Given the description of an element on the screen output the (x, y) to click on. 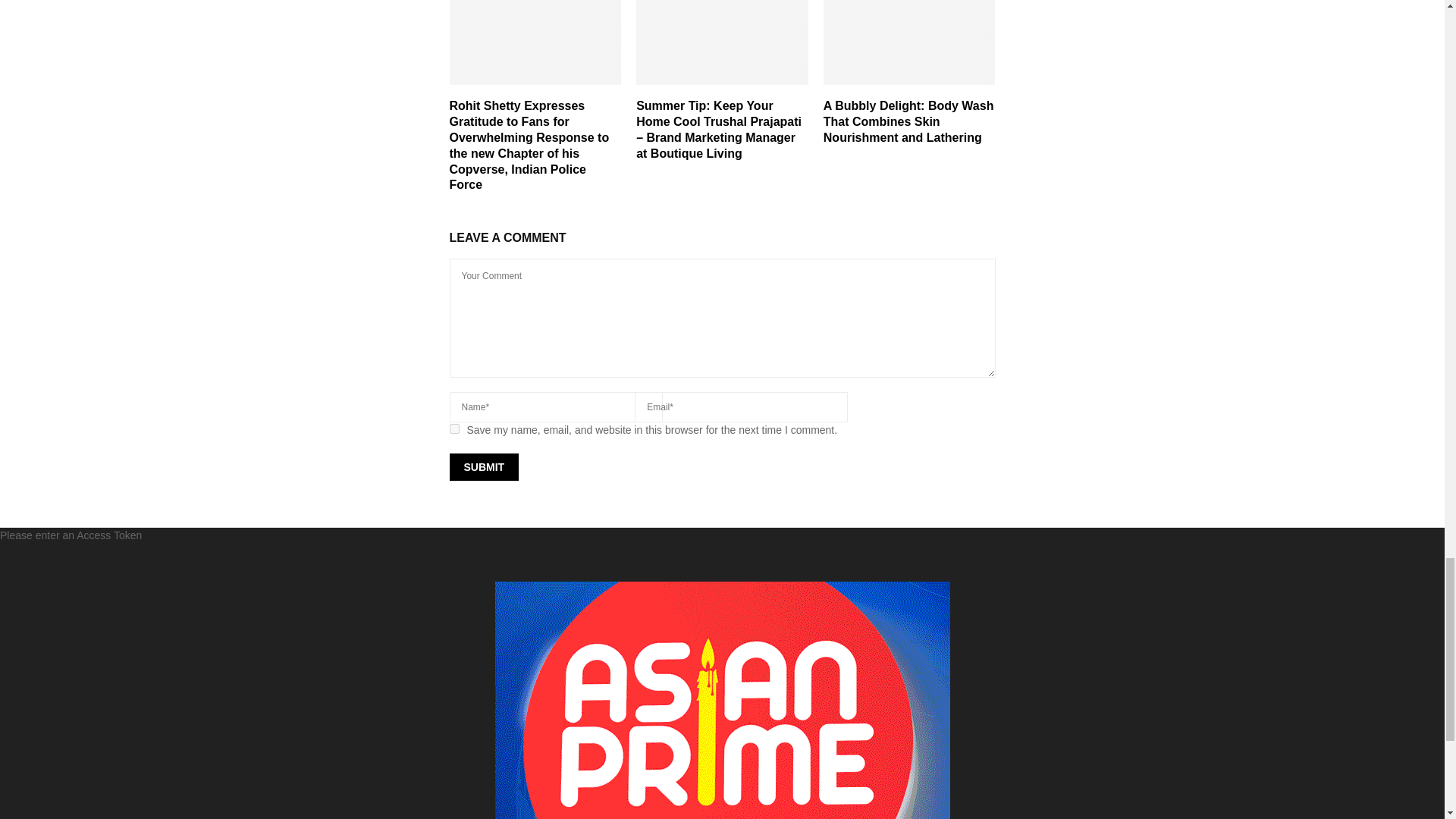
Submit (483, 466)
yes (453, 429)
